Given the description of an element on the screen output the (x, y) to click on. 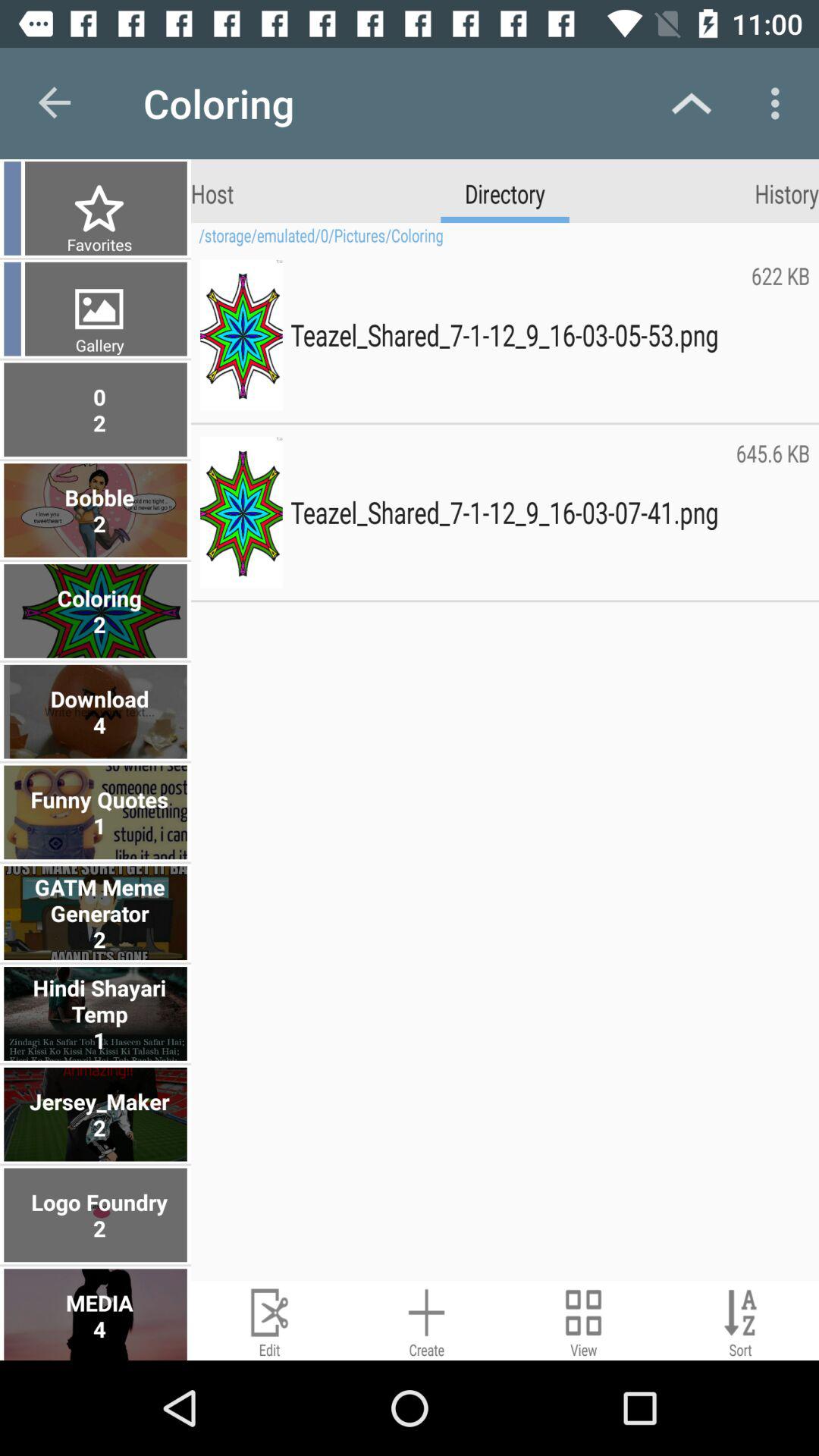
click the app above history item (779, 103)
